Given the description of an element on the screen output the (x, y) to click on. 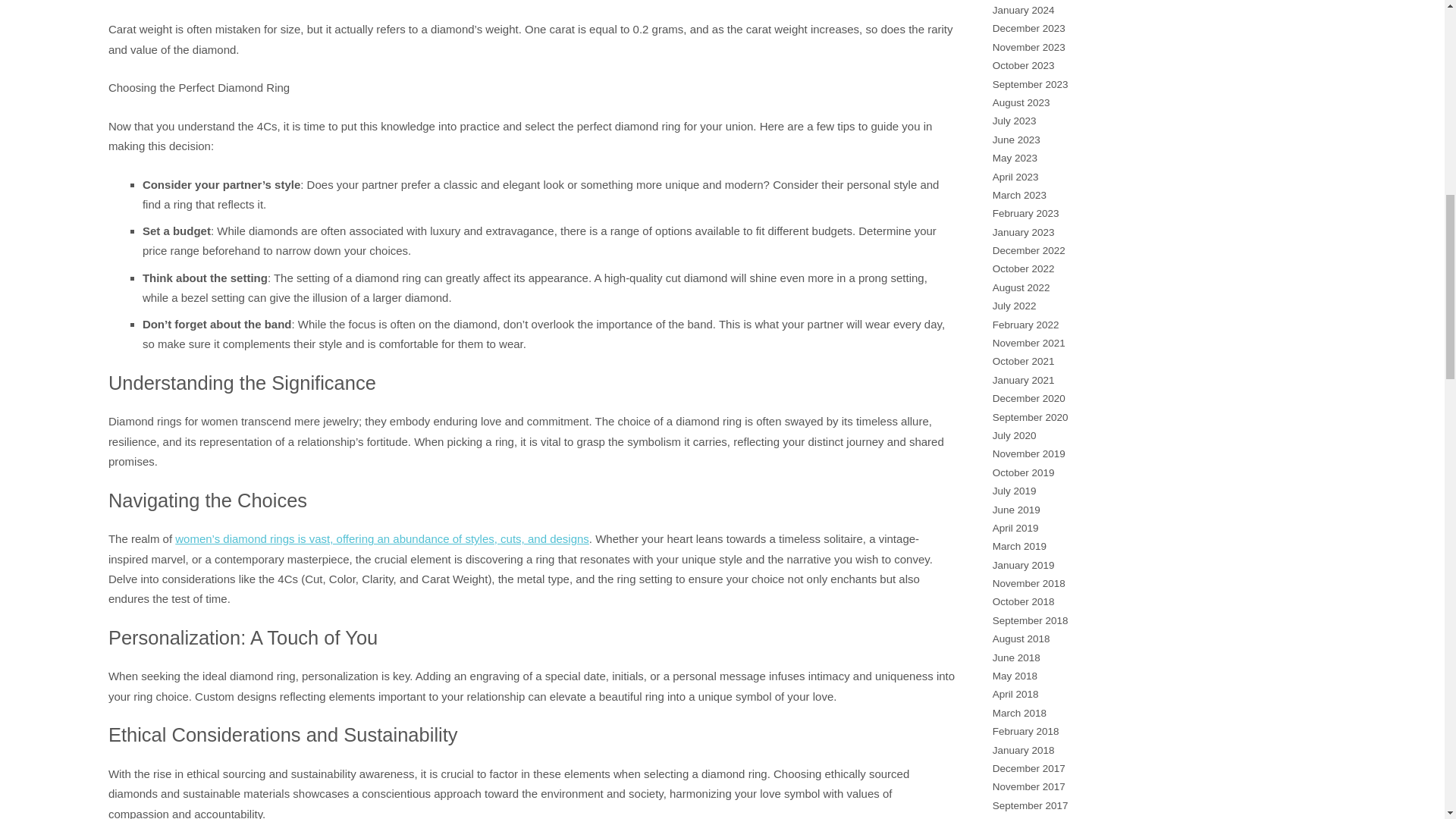
December 2023 (1028, 28)
August 2023 (1020, 102)
November 2023 (1028, 47)
June 2023 (1016, 139)
September 2023 (1030, 84)
October 2023 (1023, 65)
July 2023 (1014, 120)
January 2024 (1023, 9)
